Given the description of an element on the screen output the (x, y) to click on. 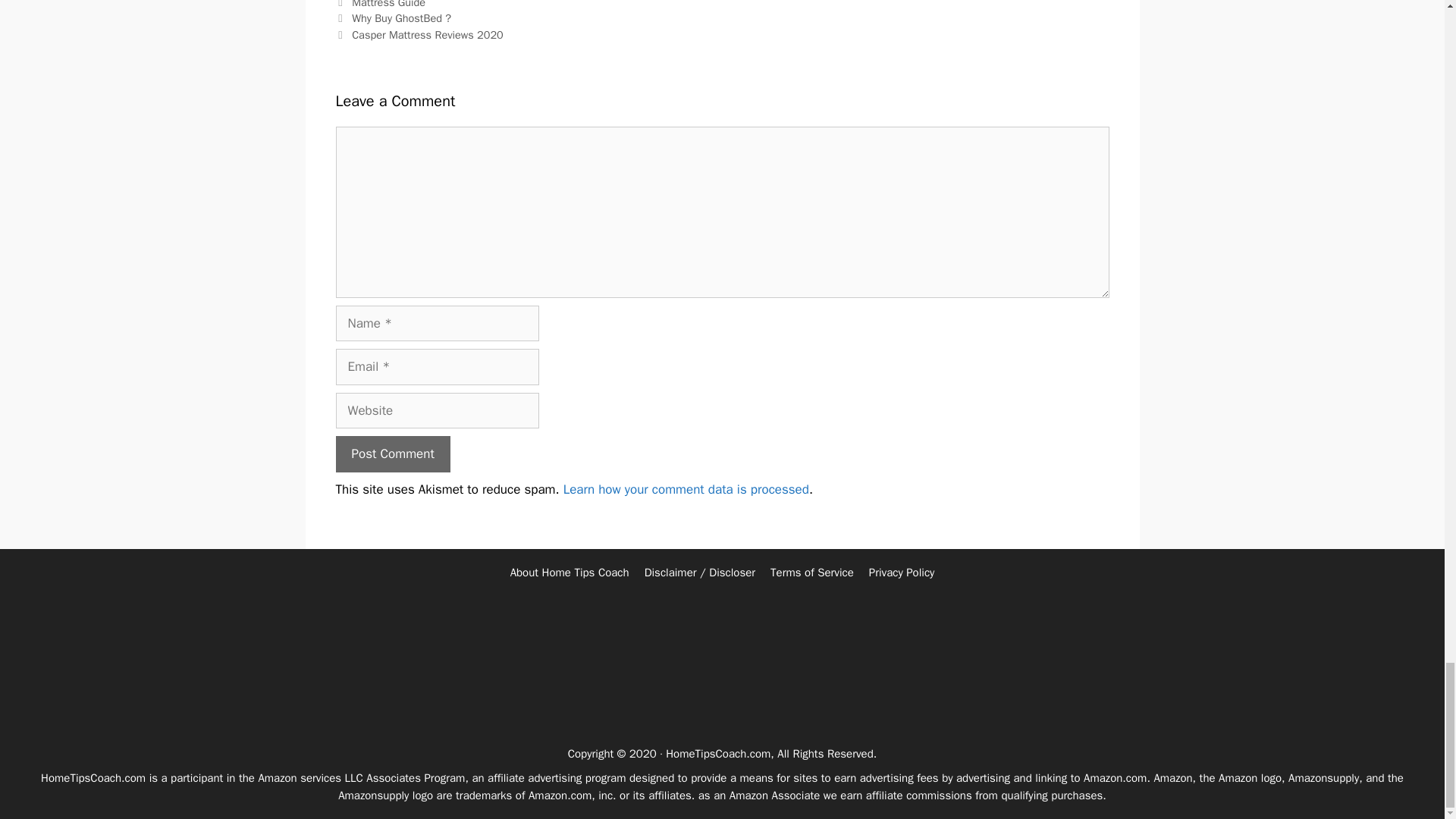
Post Comment (391, 453)
DMCA.com Protection Status (721, 713)
Next (418, 34)
Previous (392, 18)
